Given the description of an element on the screen output the (x, y) to click on. 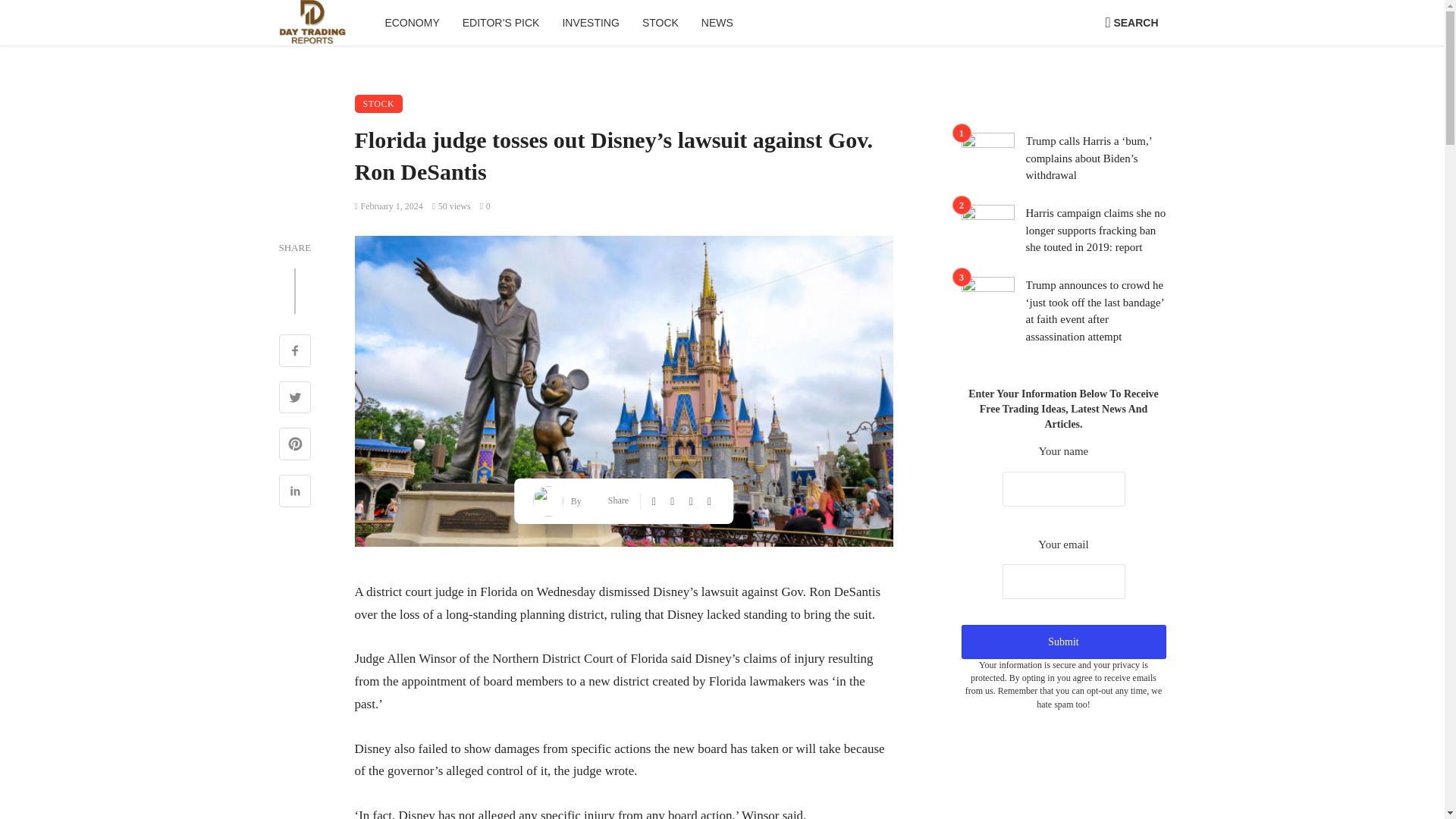
Share on Pinterest (295, 445)
Submit (1063, 641)
SEARCH (1131, 22)
Share on Linkedin (295, 493)
Share on Twitter (673, 500)
Share on Facebook (295, 352)
NEWS (717, 22)
STOCK (660, 22)
INVESTING (590, 22)
Share on Pinterest (691, 500)
Share on Linkedin (710, 500)
0 (485, 205)
STOCK (379, 104)
Share on Facebook (655, 500)
ECONOMY (410, 22)
